Given the description of an element on the screen output the (x, y) to click on. 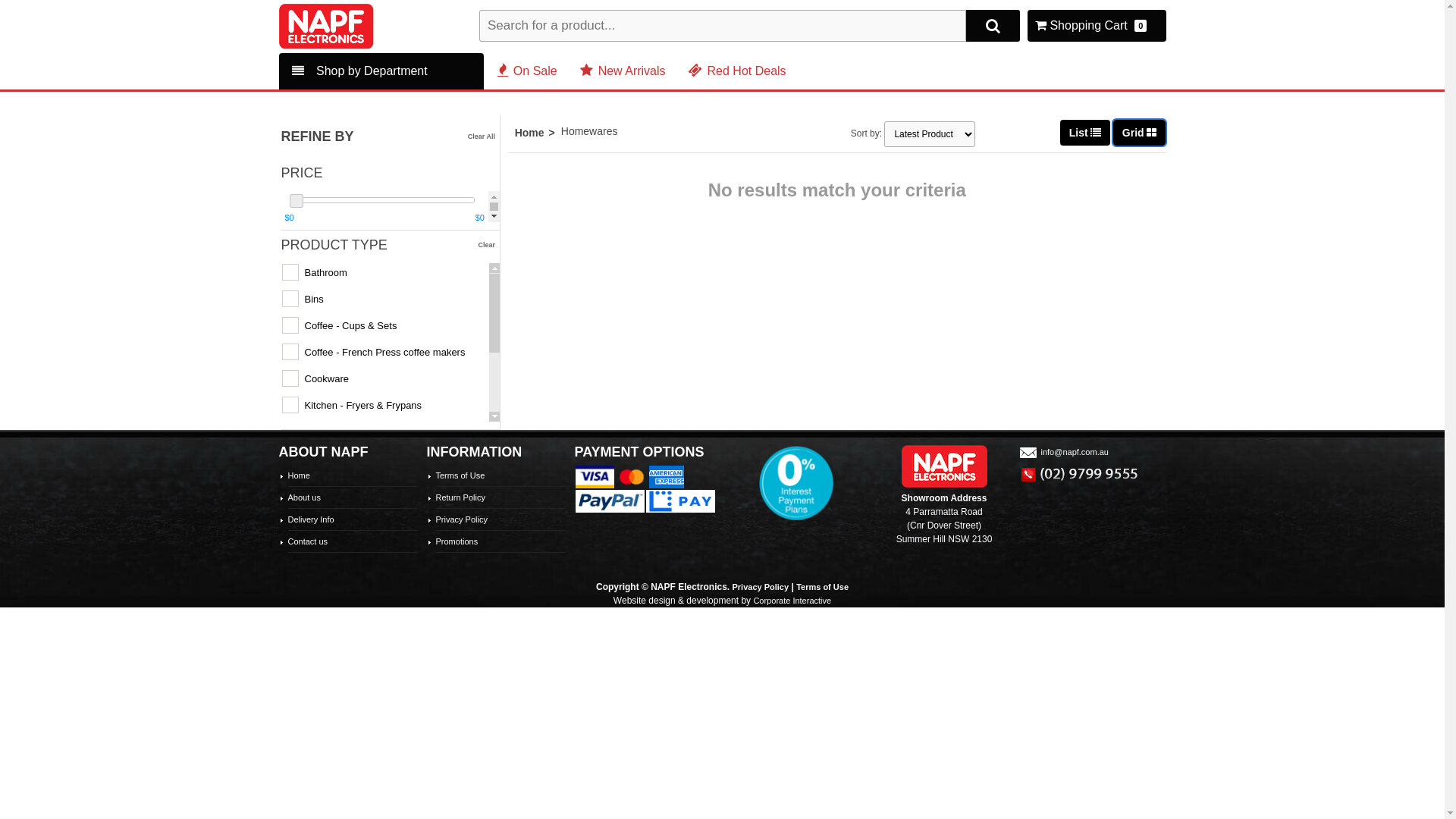
Terms of Use Element type: text (459, 475)
Promotions Element type: text (456, 541)
Corporate Interactive Element type: text (792, 600)
On Sale Element type: text (527, 70)
About us Element type: text (304, 497)
Home Element type: text (299, 475)
Delivery Info Element type: text (311, 519)
Terms of Use Element type: text (822, 586)
Privacy Policy Element type: text (760, 586)
Privacy Policy Element type: text (460, 519)
Red Hot Deals Element type: text (737, 70)
Return Policy Element type: text (459, 497)
Contact us Element type: text (308, 541)
Home Element type: text (537, 132)
New Arrivals Element type: text (622, 70)
info@napf.com.au Element type: text (1062, 451)
